Given the description of an element on the screen output the (x, y) to click on. 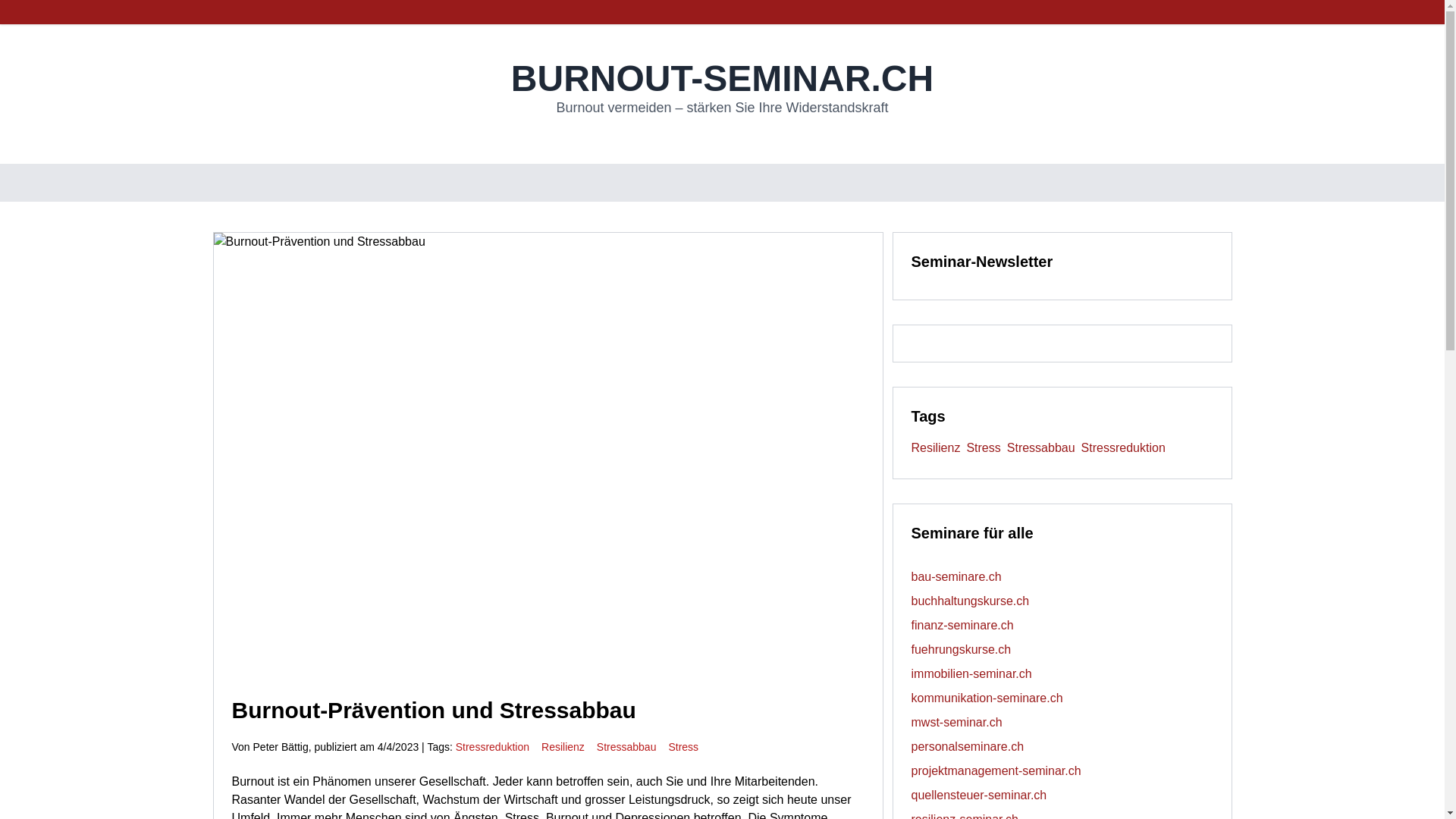
finanz-seminare.ch Element type: text (962, 624)
Stressreduktion Element type: text (1126, 447)
projektmanagement-seminar.ch Element type: text (996, 770)
personalseminare.ch Element type: text (967, 746)
Stress Element type: text (986, 447)
Resilienz Element type: text (562, 746)
Stressabbau Element type: text (626, 746)
Stressreduktion Element type: text (492, 746)
bau-seminare.ch Element type: text (956, 576)
quellensteuer-seminar.ch Element type: text (979, 794)
BURNOUT-SEMINAR.CH Element type: text (722, 78)
Stress Element type: text (683, 746)
Resilienz Element type: text (938, 447)
kommunikation-seminare.ch Element type: text (987, 697)
fuehrungskurse.ch Element type: text (961, 649)
Stressabbau Element type: text (1044, 447)
immobilien-seminar.ch Element type: text (971, 673)
buchhaltungskurse.ch Element type: text (970, 600)
mwst-seminar.ch Element type: text (956, 721)
